Given the description of an element on the screen output the (x, y) to click on. 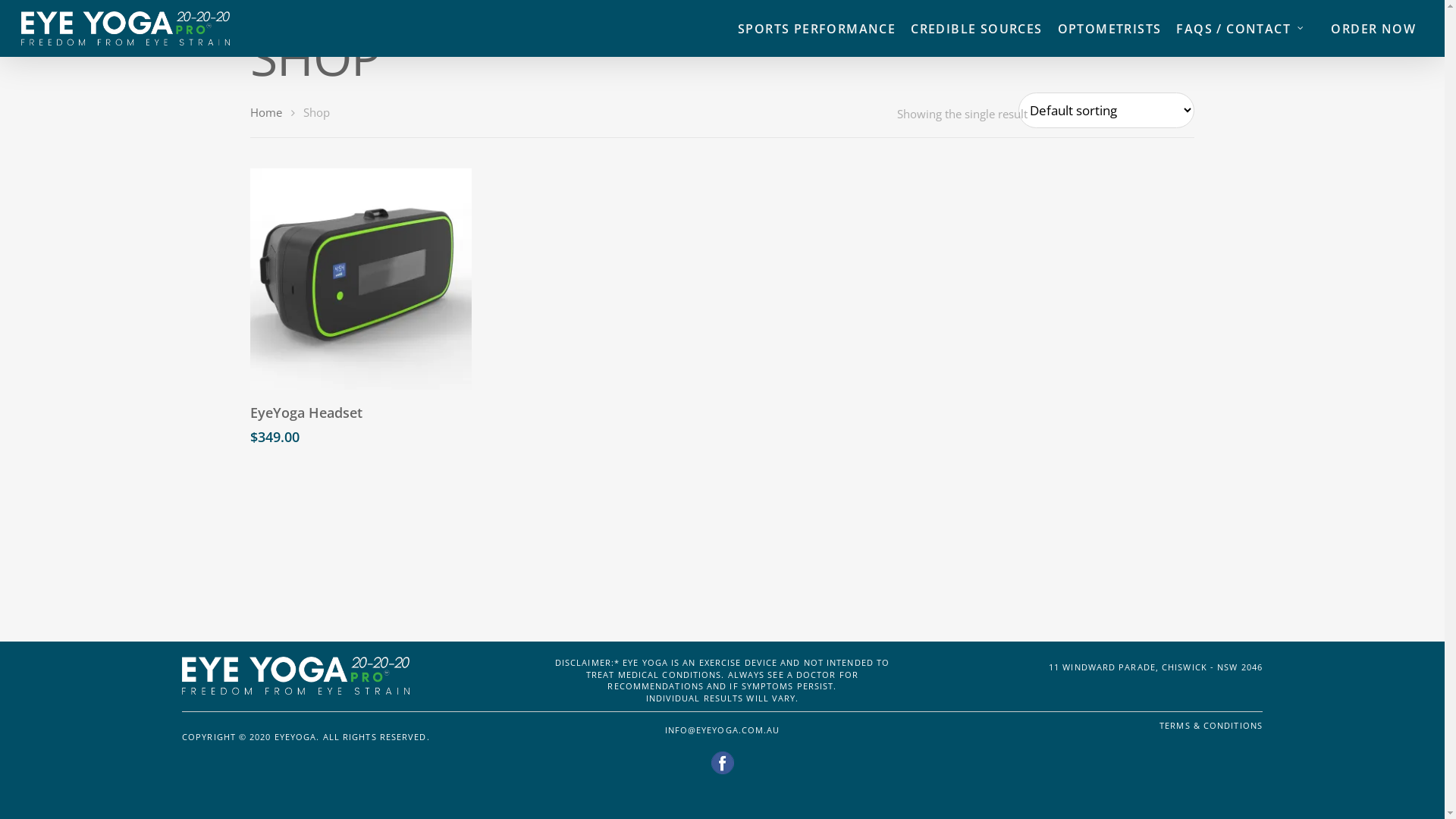
INFO@EYEYOGA.COM.AU Element type: text (722, 729)
SPORTS PERFORMANCE Element type: text (816, 28)
0 Element type: text (1439, 35)
Home Element type: text (266, 111)
OPTOMETRISTS Element type: text (1109, 28)
ORDER NOW Element type: text (1373, 28)
CREDIBLE SOURCES Element type: text (976, 28)
FAQS / CONTACT Element type: text (1248, 28)
TERMS & CONDITIONS Element type: text (1210, 725)
